Given the description of an element on the screen output the (x, y) to click on. 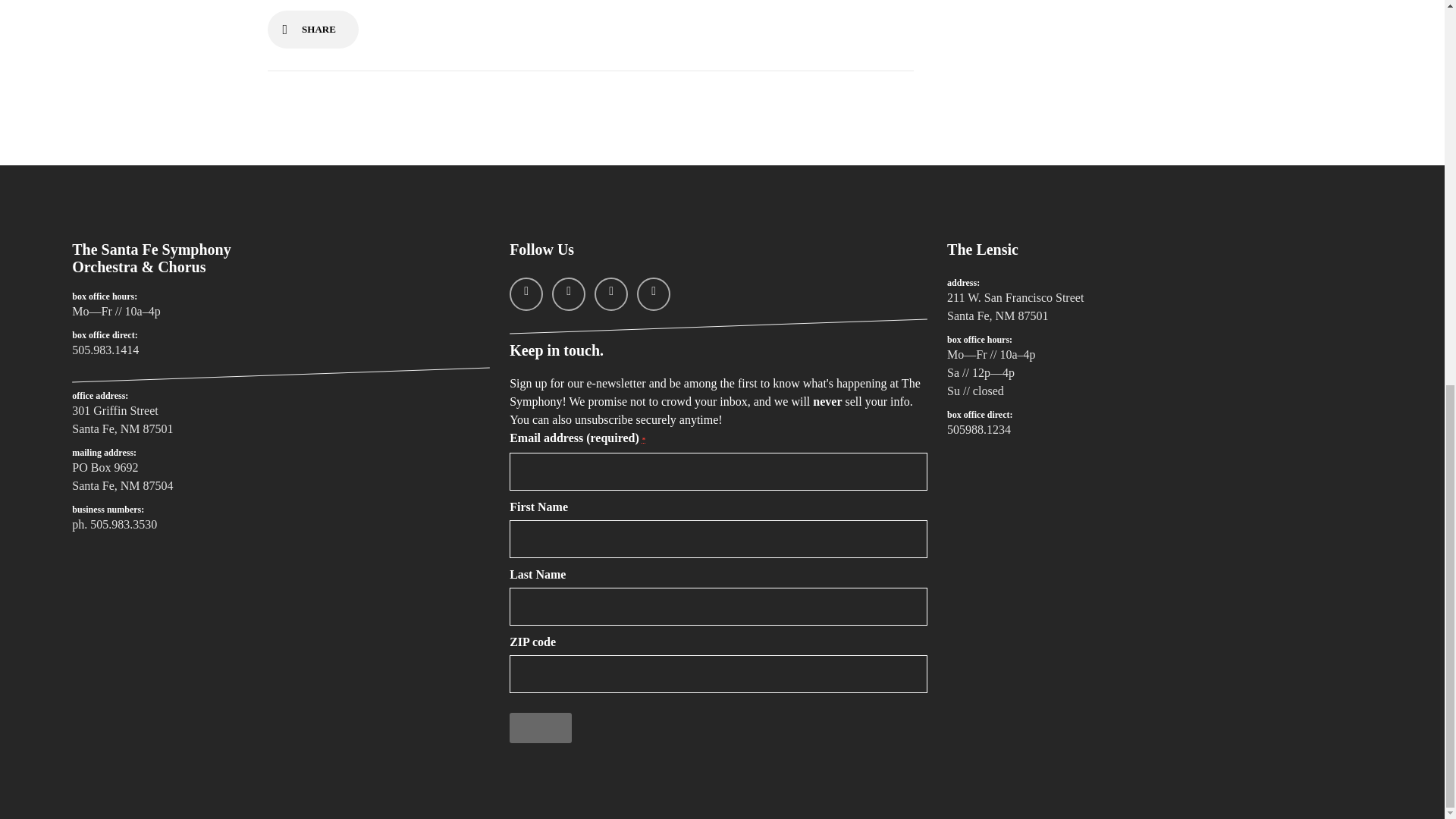
Sign up (539, 727)
